Given the description of an element on the screen output the (x, y) to click on. 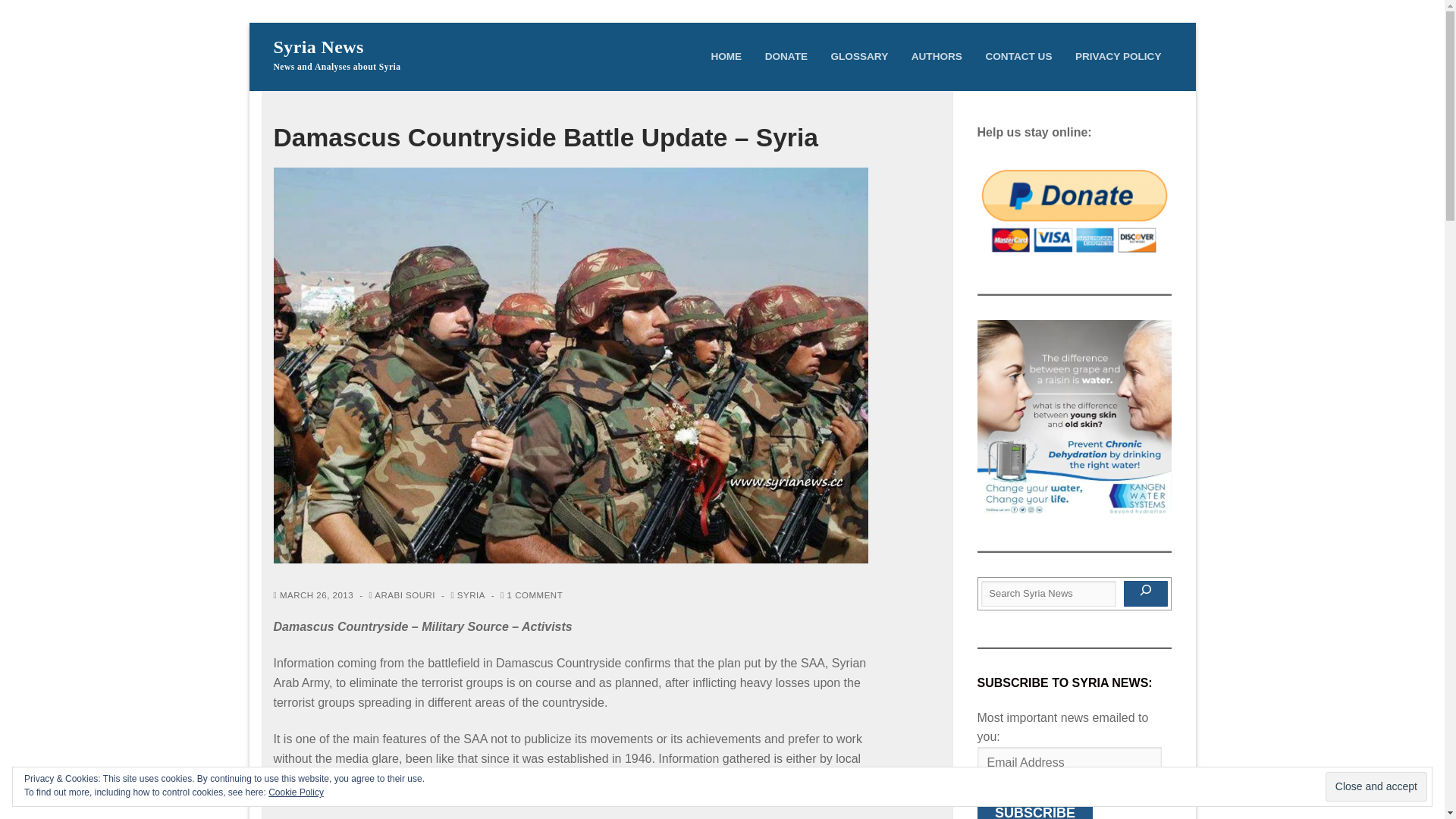
AUTHORS (936, 56)
PRIVACY POLICY (1118, 56)
HOME (725, 56)
GLOSSARY (859, 56)
DONATE (785, 56)
SYRIA (466, 594)
CONTACT US (1018, 56)
ARABI SOURI (402, 594)
1 COMMENT (531, 594)
MARCH 26, 2013 (313, 594)
Close and accept (1375, 786)
Syria News (317, 47)
